Given the description of an element on the screen output the (x, y) to click on. 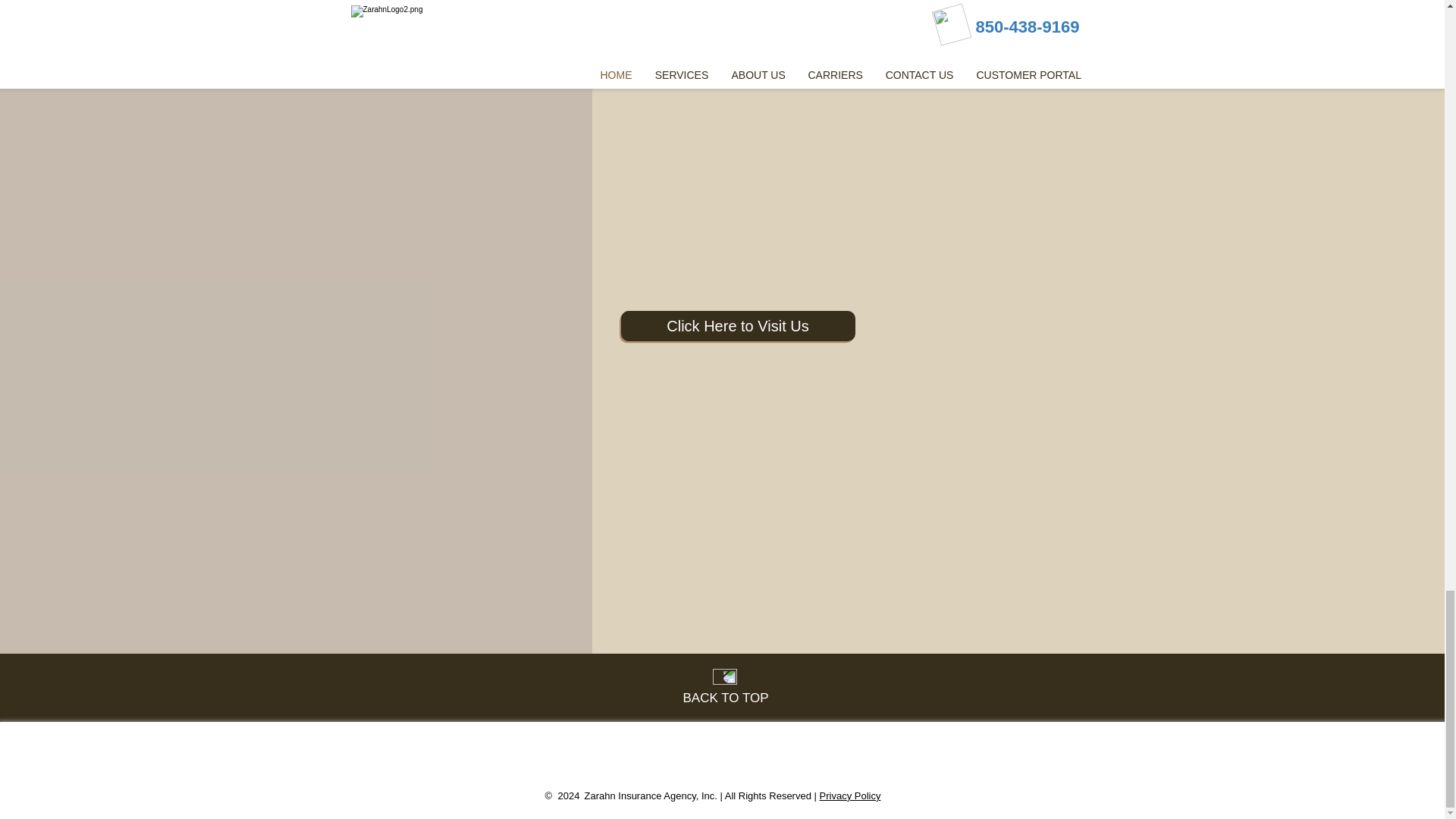
Privacy Policy (849, 795)
Click Here to Visit Us (737, 326)
BACK TO TOP (725, 698)
